Given the description of an element on the screen output the (x, y) to click on. 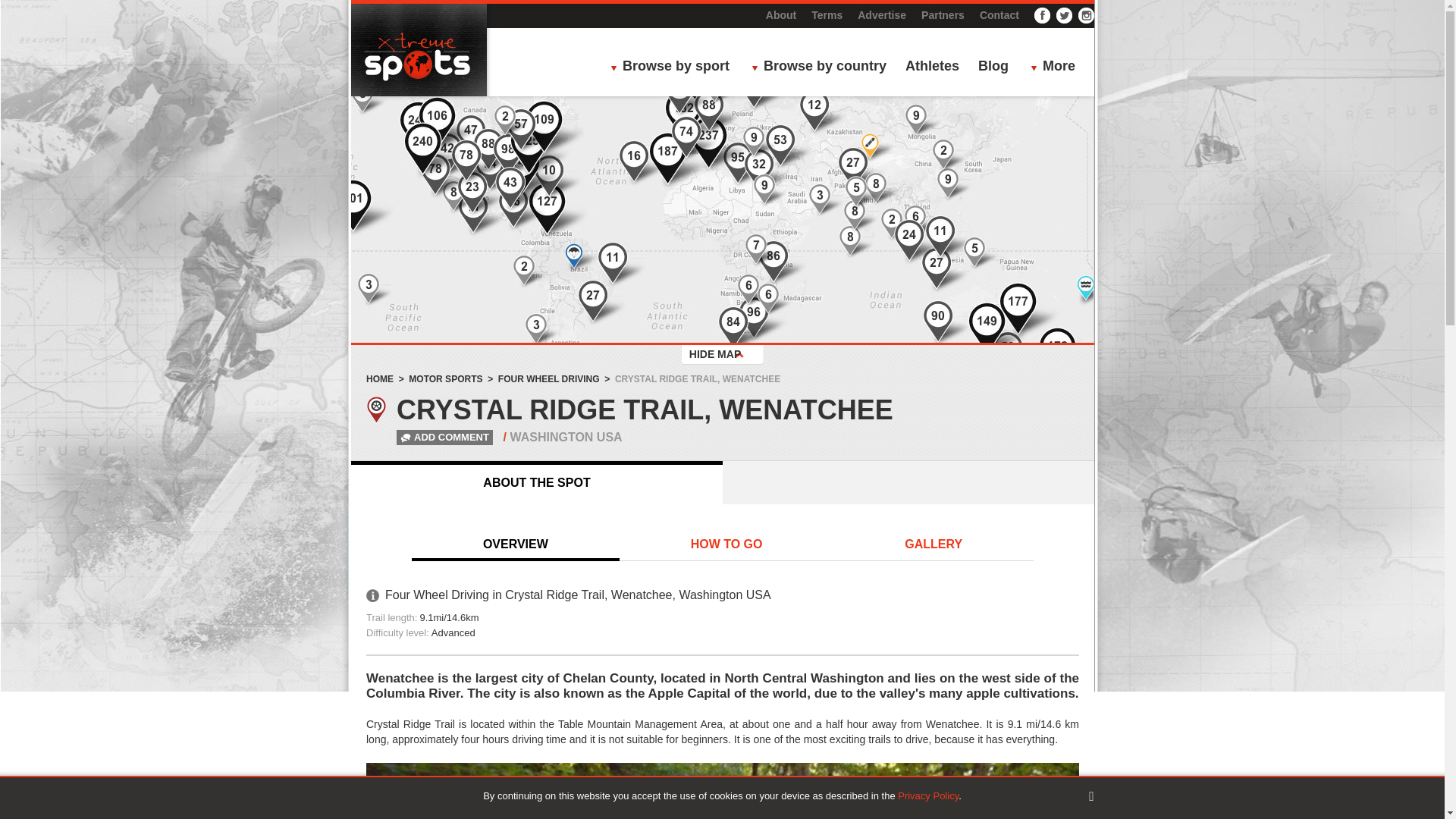
Advertise (881, 15)
OVERVIEW (516, 545)
Browse by country (823, 67)
ADD COMMENT (431, 437)
About (780, 15)
HOW TO GO (727, 545)
4wd Crystal Ridge Trail (722, 790)
Browse by sport (674, 67)
GALLERY (932, 545)
Contact (999, 15)
